Given the description of an element on the screen output the (x, y) to click on. 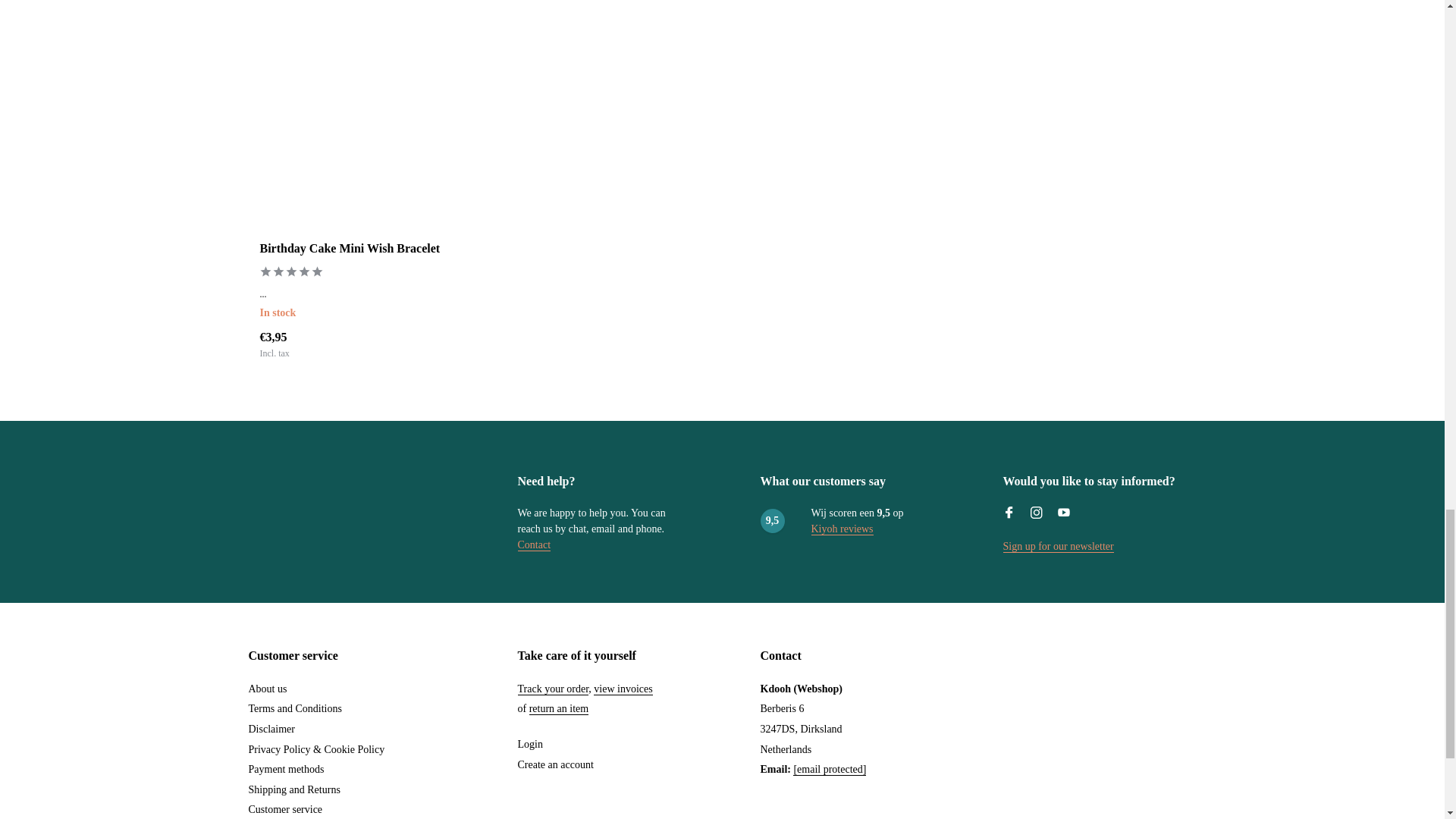
About us (267, 688)
Birthday Cake Mini Wish Bracelet (358, 131)
Birthday Cake Mini Wish Bracelet (358, 248)
